Given the description of an element on the screen output the (x, y) to click on. 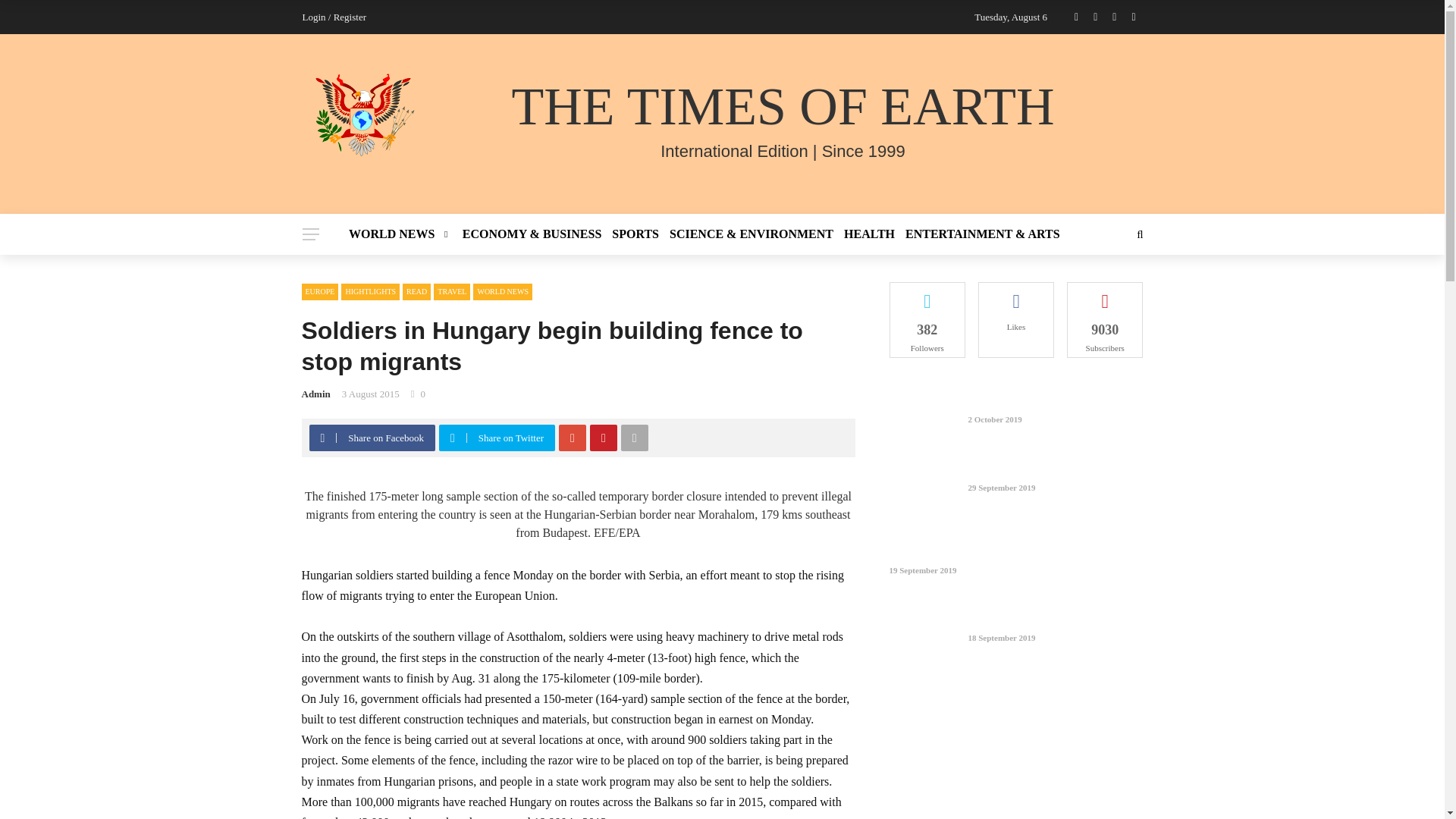
WORLD NEWS (403, 233)
SPORTS (635, 233)
HEALTH (868, 233)
